Given the description of an element on the screen output the (x, y) to click on. 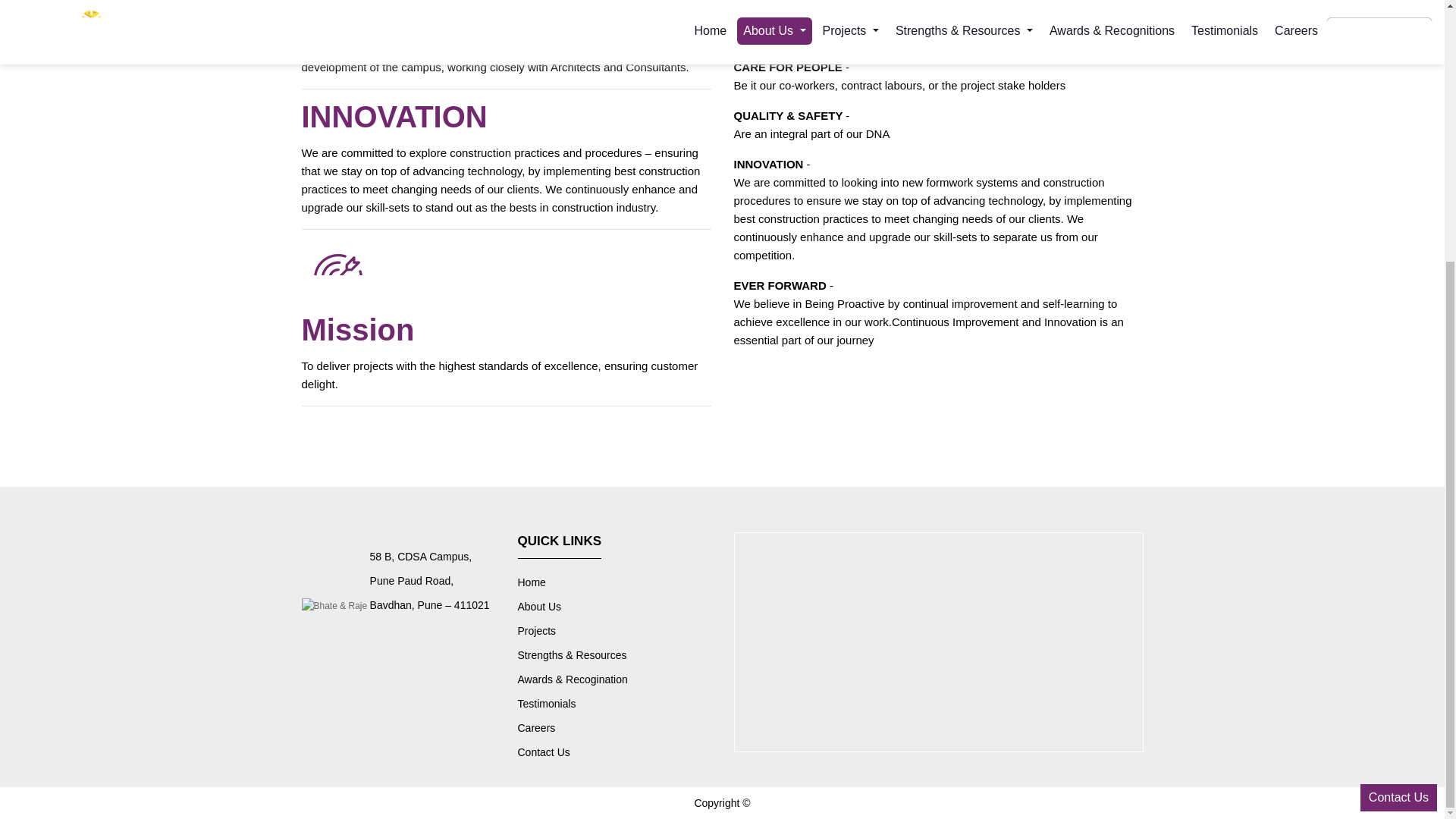
Projects (619, 630)
Home (619, 582)
Contact Us (619, 752)
Contact Us (1398, 421)
About Us (619, 606)
Careers (619, 727)
Testimonials (619, 703)
